Given the description of an element on the screen output the (x, y) to click on. 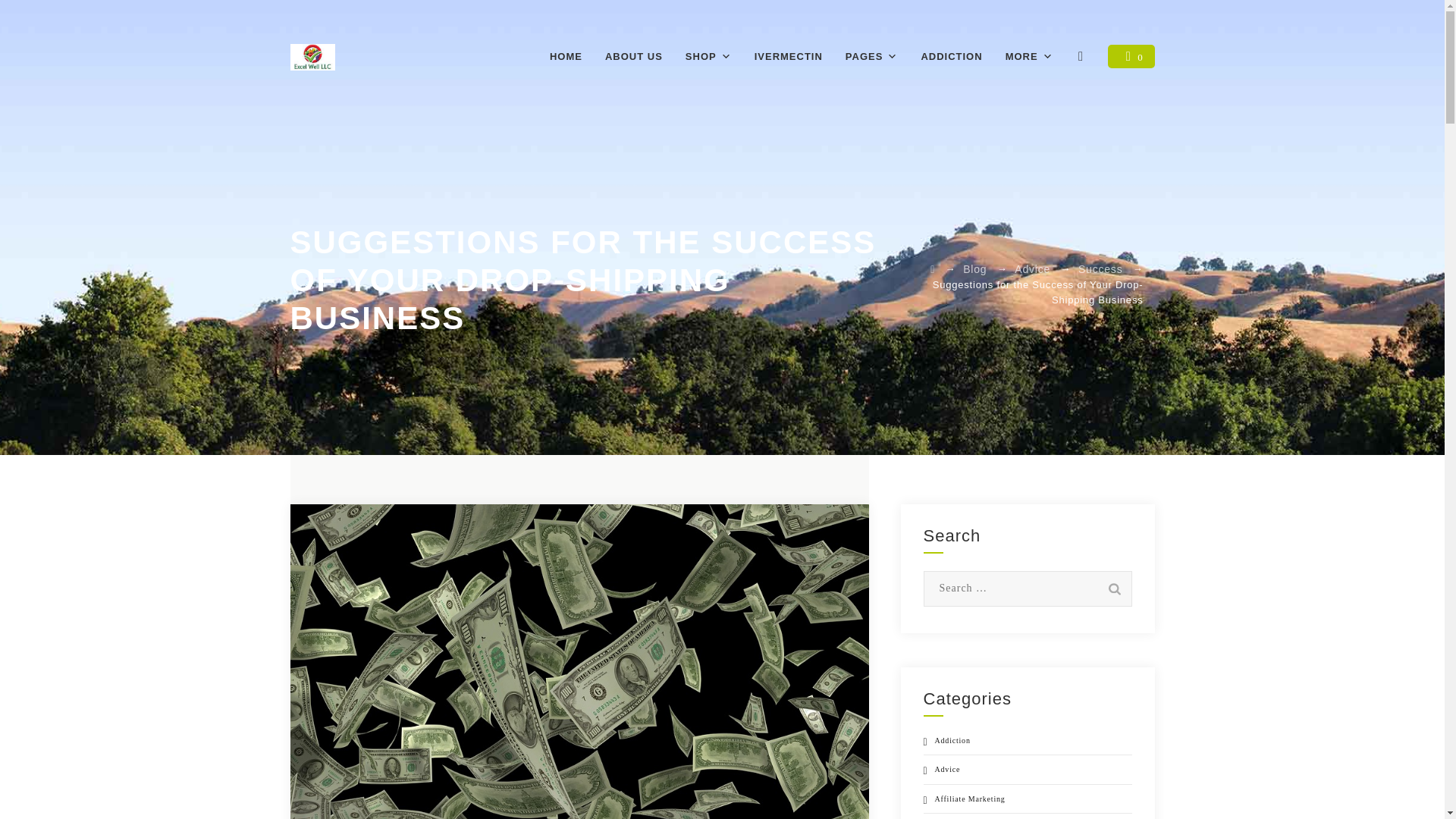
0 (1131, 56)
Go to Blog. (974, 268)
Go to the Advice Category archives. (1031, 268)
Search (1113, 588)
Go to the Success Category archives. (1100, 268)
Search (1113, 588)
